Given the description of an element on the screen output the (x, y) to click on. 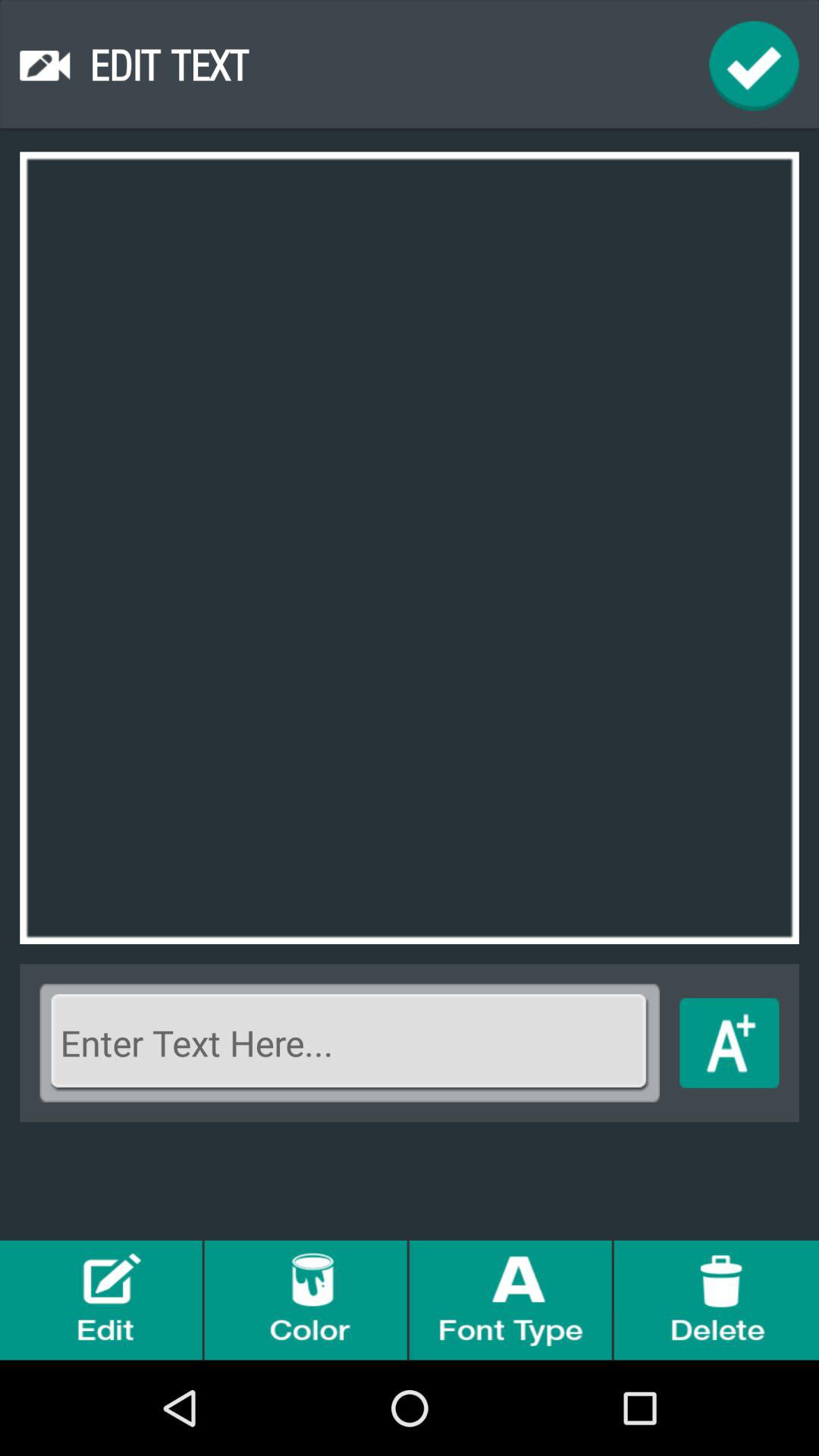
enter text into the box (349, 1043)
